Given the description of an element on the screen output the (x, y) to click on. 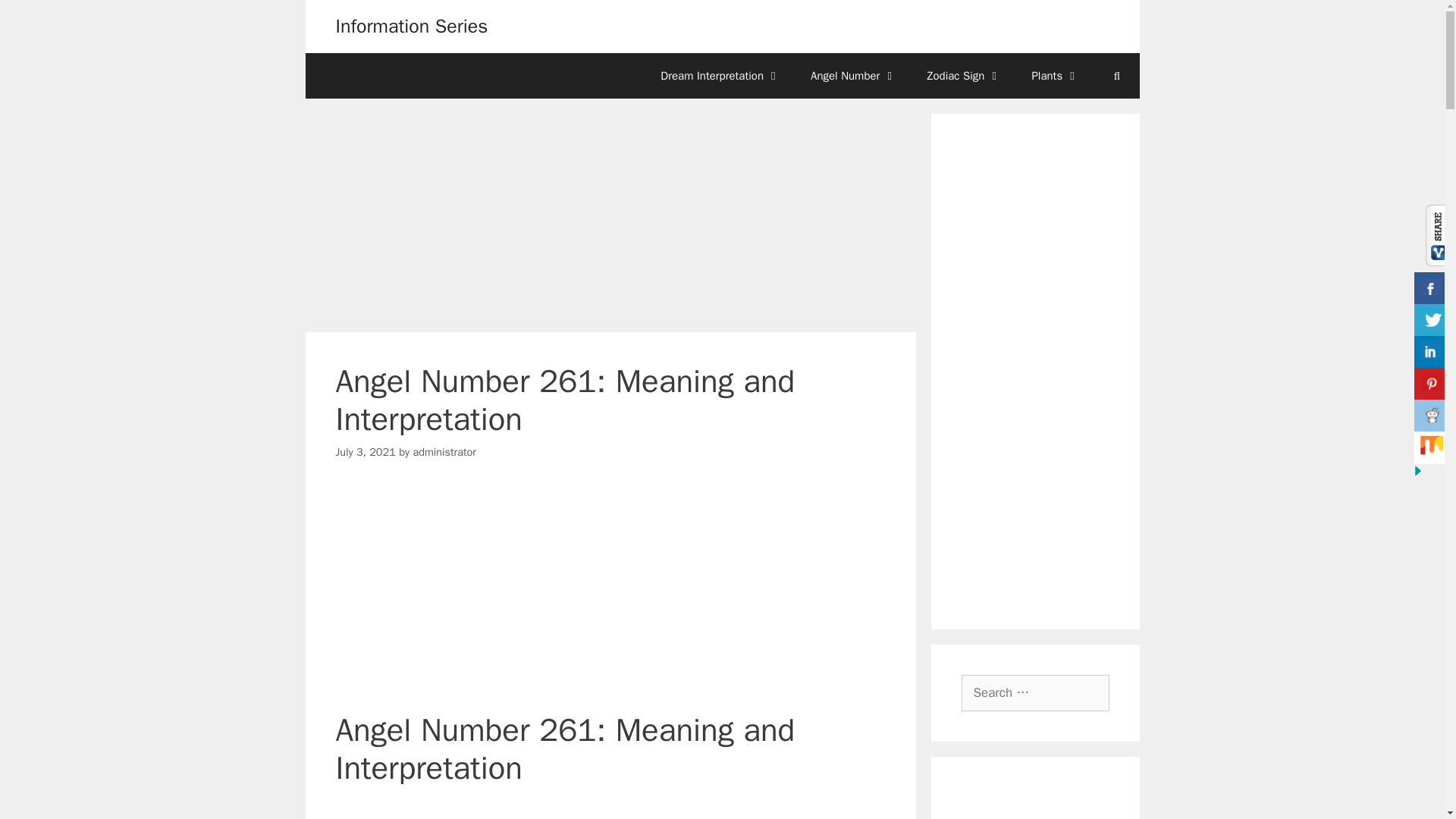
Angel Number (852, 75)
Information Series (410, 25)
Zodiac Sign (963, 75)
View all posts by administrator (444, 451)
administrator (444, 451)
Plants (1055, 75)
Dream Interpretation (719, 75)
